Given the description of an element on the screen output the (x, y) to click on. 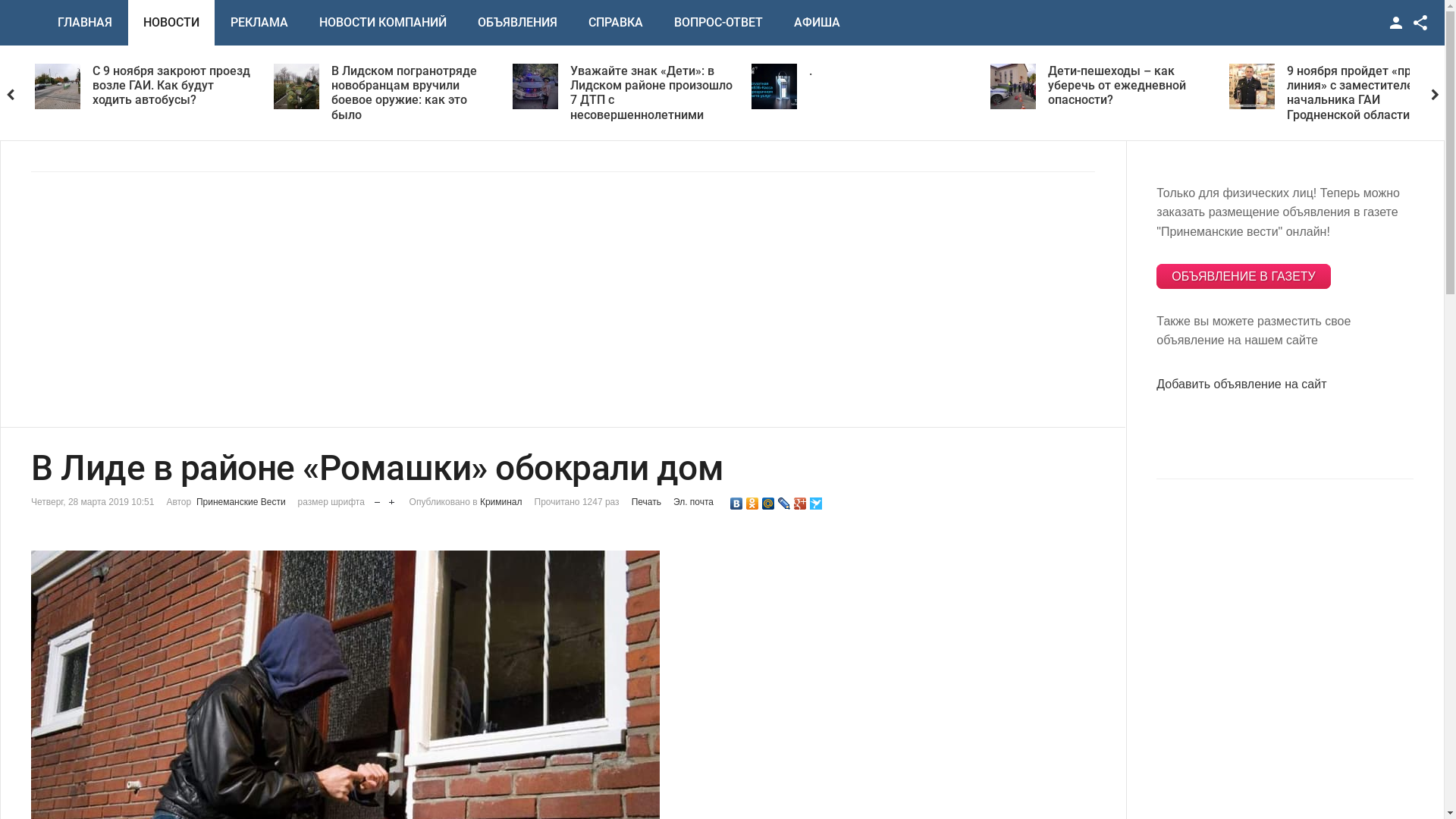
Advertisement Element type: hover (486, 284)
Google Plus Element type: hover (800, 503)
Advertisement Element type: hover (1247, 636)
Surfingbird Element type: hover (816, 503)
. Element type: text (1049, 70)
LiveJournal Element type: hover (784, 503)
